Given the description of an element on the screen output the (x, y) to click on. 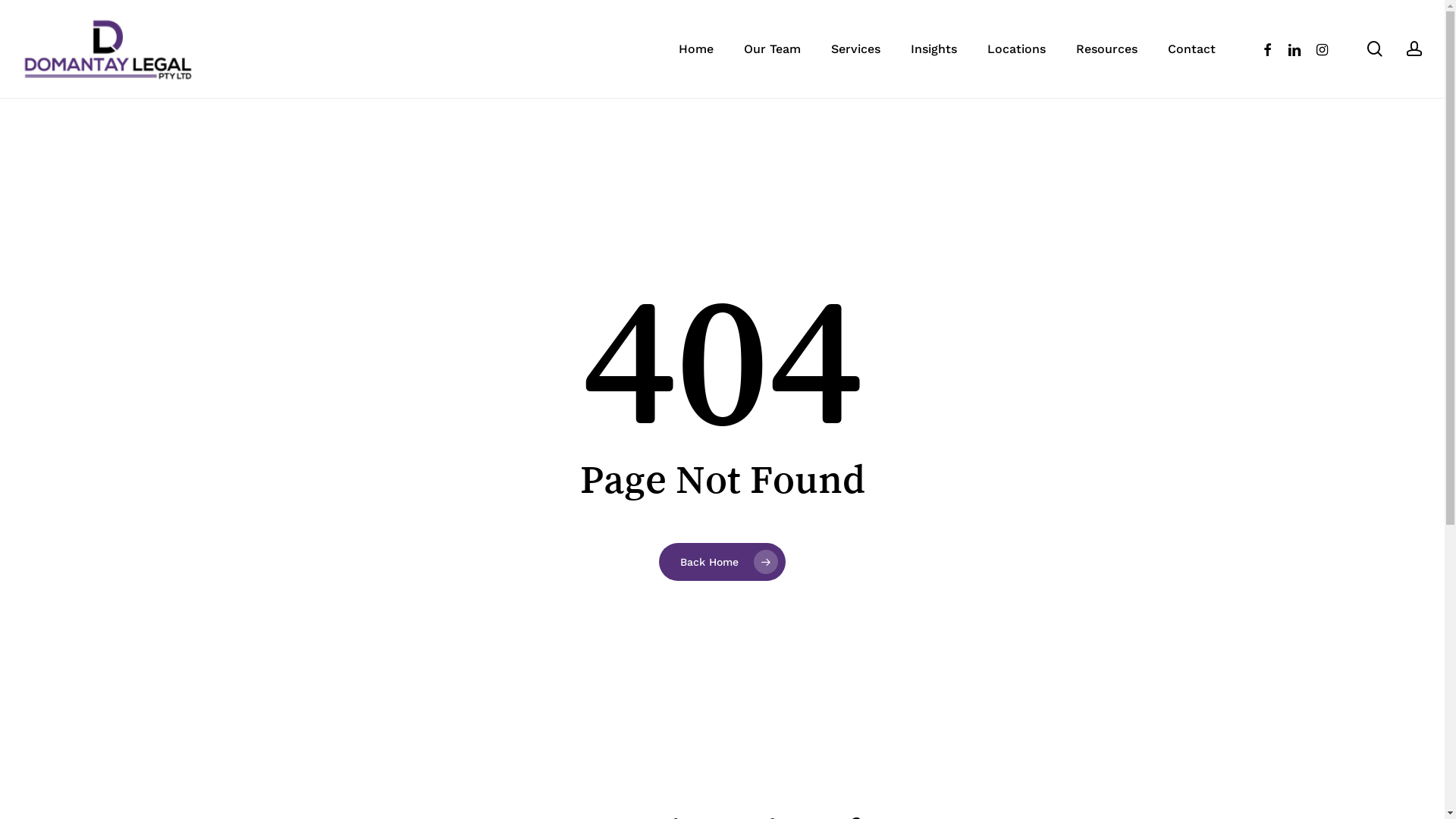
Locations Element type: text (1016, 48)
Services Element type: text (855, 48)
facebook Element type: text (1266, 48)
Insights Element type: text (933, 48)
Back Home Element type: text (721, 561)
instagram Element type: text (1321, 48)
account Element type: text (1414, 48)
Resources Element type: text (1106, 48)
Home Element type: text (695, 48)
linkedin Element type: text (1294, 48)
search Element type: text (1374, 48)
Our Team Element type: text (771, 48)
Contact Element type: text (1191, 48)
